Given the description of an element on the screen output the (x, y) to click on. 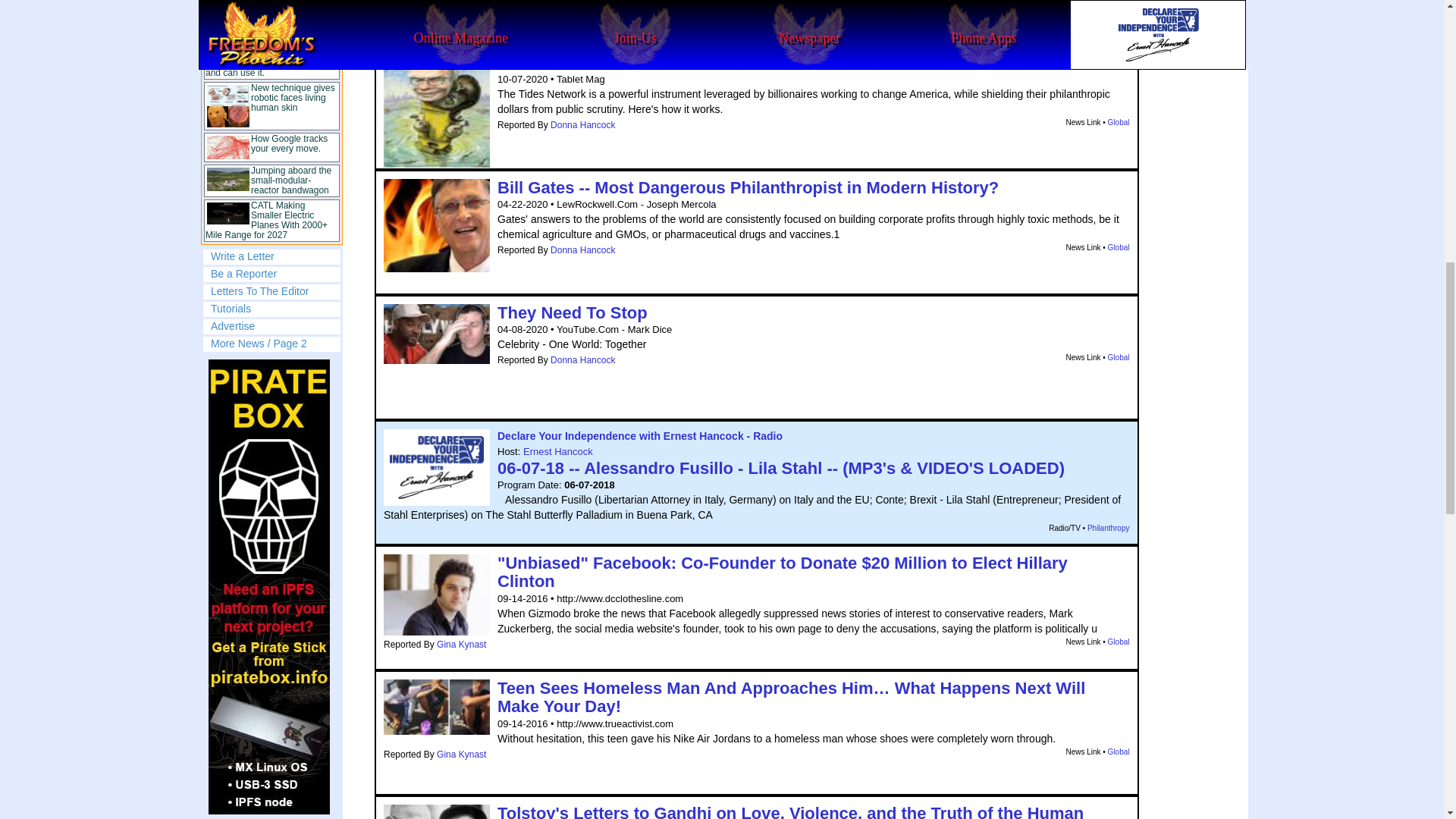
Top Links (271, 122)
